Given the description of an element on the screen output the (x, y) to click on. 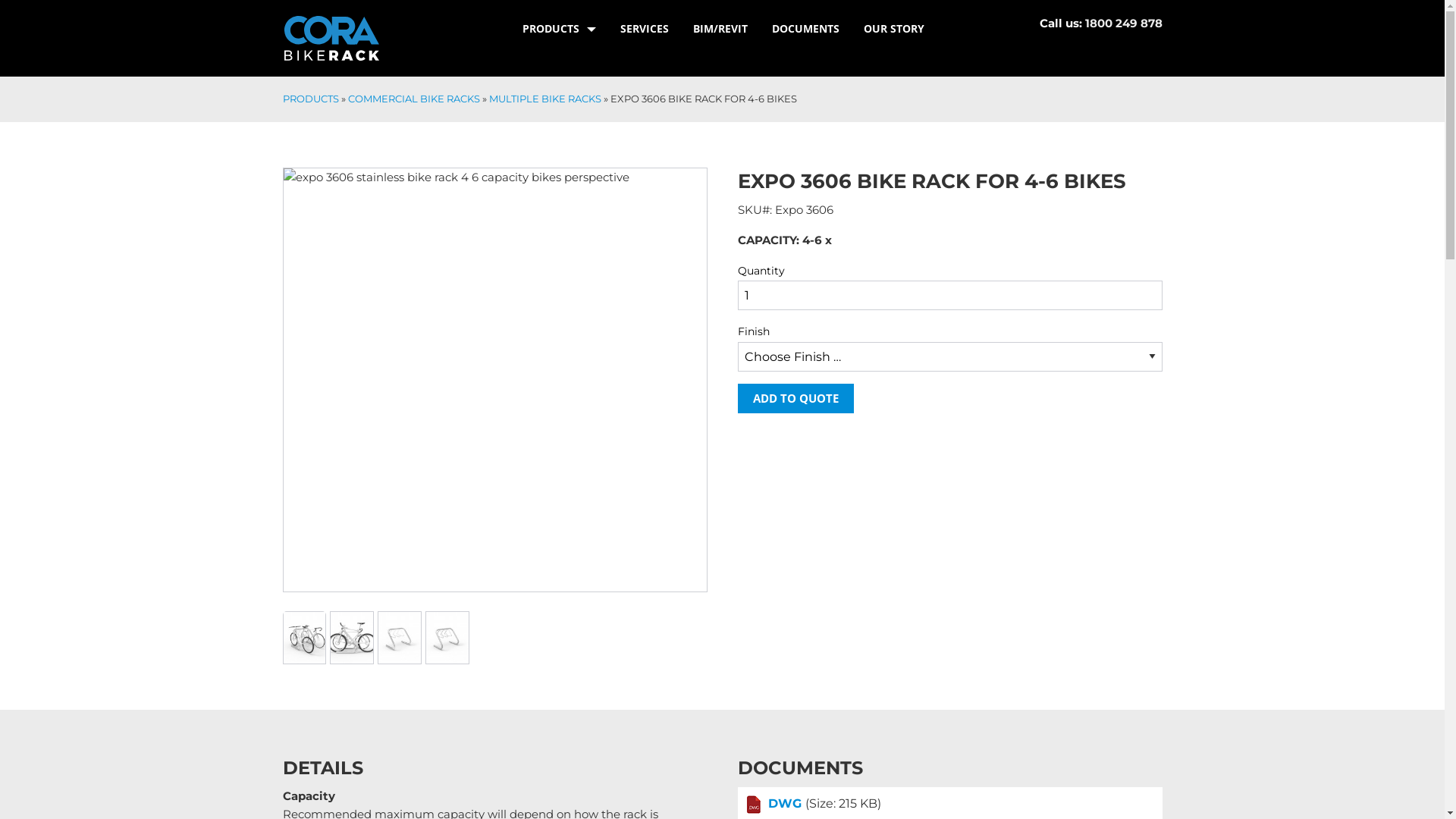
DOCUMENTS Element type: text (805, 28)
SERVICES Element type: text (644, 28)
PRODUCTS Element type: text (310, 98)
BIM/REVIT Element type: text (719, 28)
PRODUCTS Element type: text (558, 28)
Add to Quote Element type: text (795, 398)
DWG (Size: 215 KB) Element type: text (949, 804)
1800 249 878 Element type: text (1122, 22)
MULTIPLE BIKE RACKS Element type: text (544, 98)
COMMERCIAL BIKE RACKS Element type: text (413, 98)
OUR STORY Element type: text (892, 28)
